Given the description of an element on the screen output the (x, y) to click on. 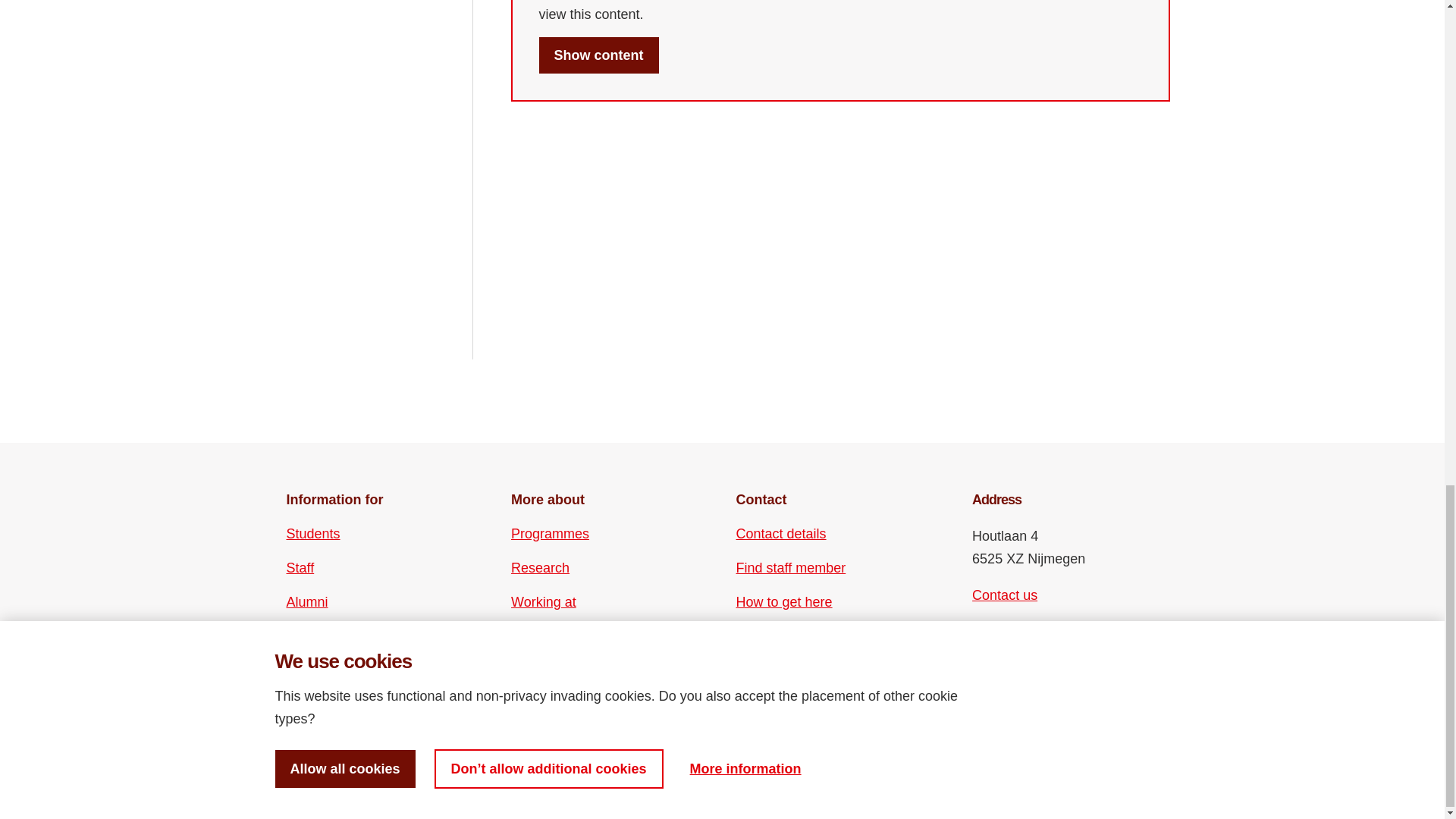
YouTube (1010, 667)
LinkedIn (1036, 640)
Welcome to Nijmegen School of Management (598, 54)
Facebook (983, 640)
Instagram (1010, 640)
X (983, 667)
Information about our campus and how to get here (784, 601)
Mastodon (1062, 640)
